Given the description of an element on the screen output the (x, y) to click on. 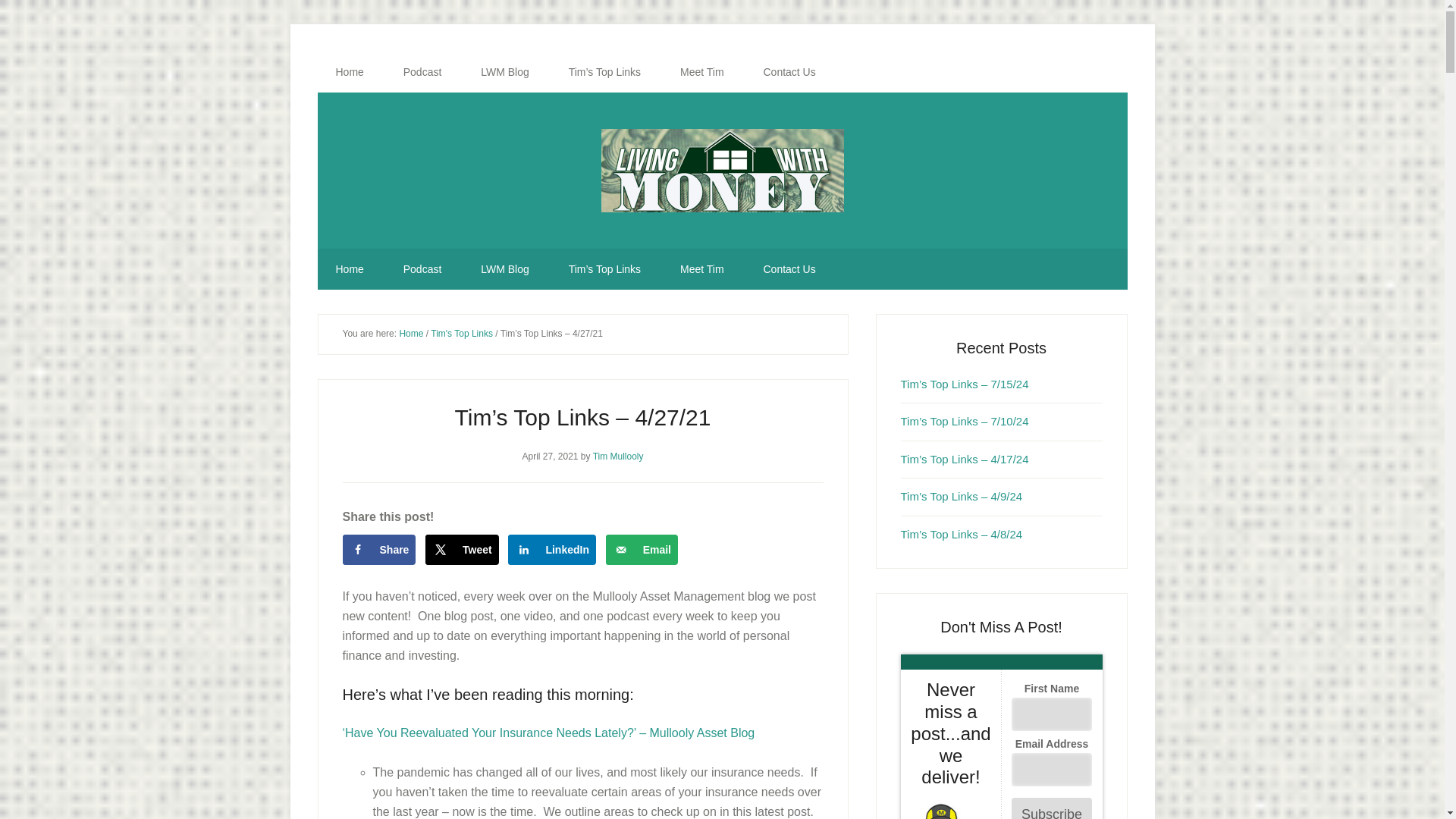
Podcast (422, 71)
LWM Blog (505, 268)
Meet Tim (702, 71)
Home (349, 71)
Home (410, 333)
Email (641, 549)
Tim Mullooly (617, 455)
Tweet (462, 549)
Podcast (422, 268)
Share on Facebook (379, 549)
